Given the description of an element on the screen output the (x, y) to click on. 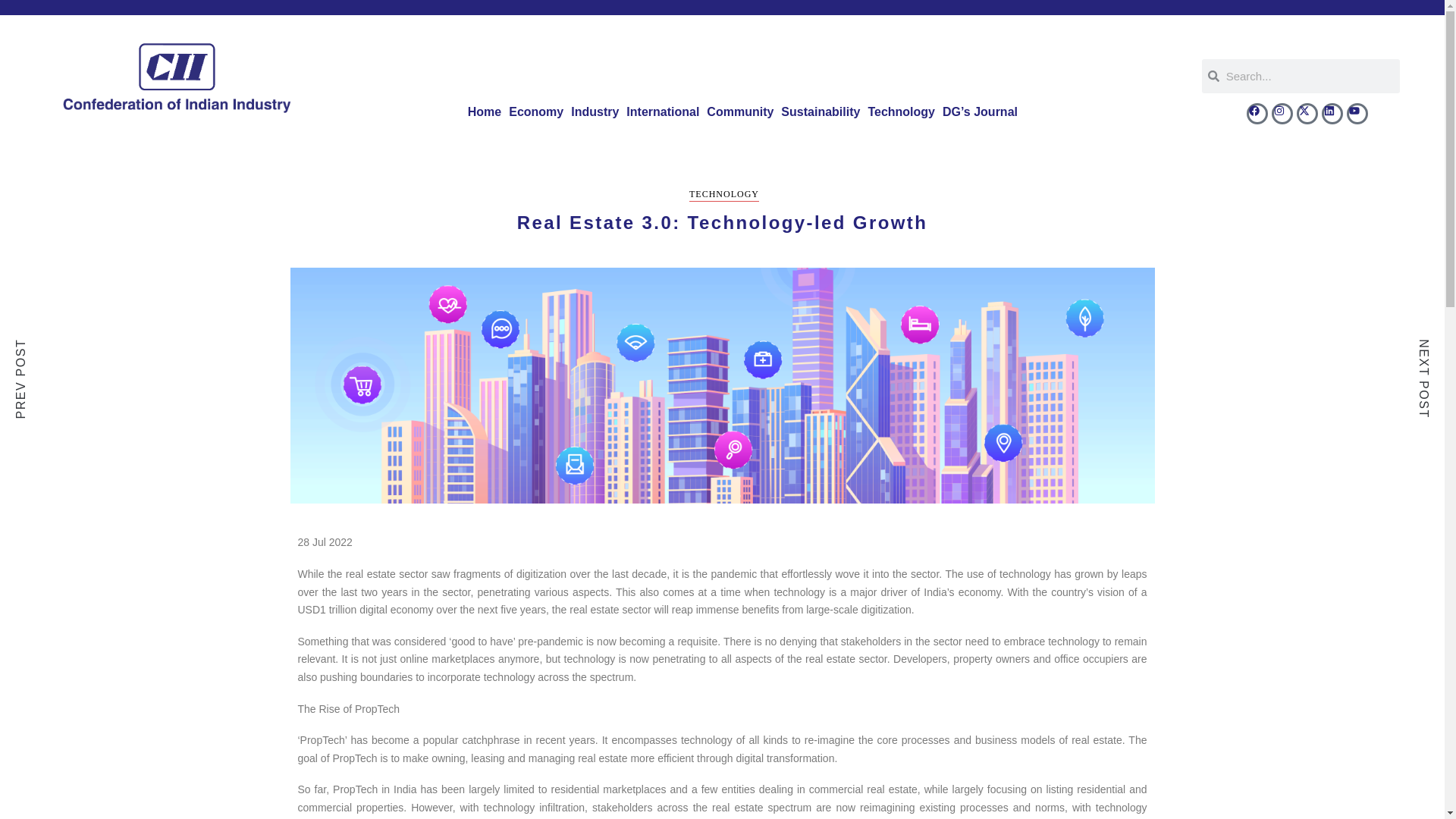
Home (484, 112)
Technology (901, 112)
Community (740, 112)
Sustainability (820, 112)
Industry (595, 112)
International (663, 112)
TECHNOLOGY (723, 195)
Economy (536, 112)
